Given the description of an element on the screen output the (x, y) to click on. 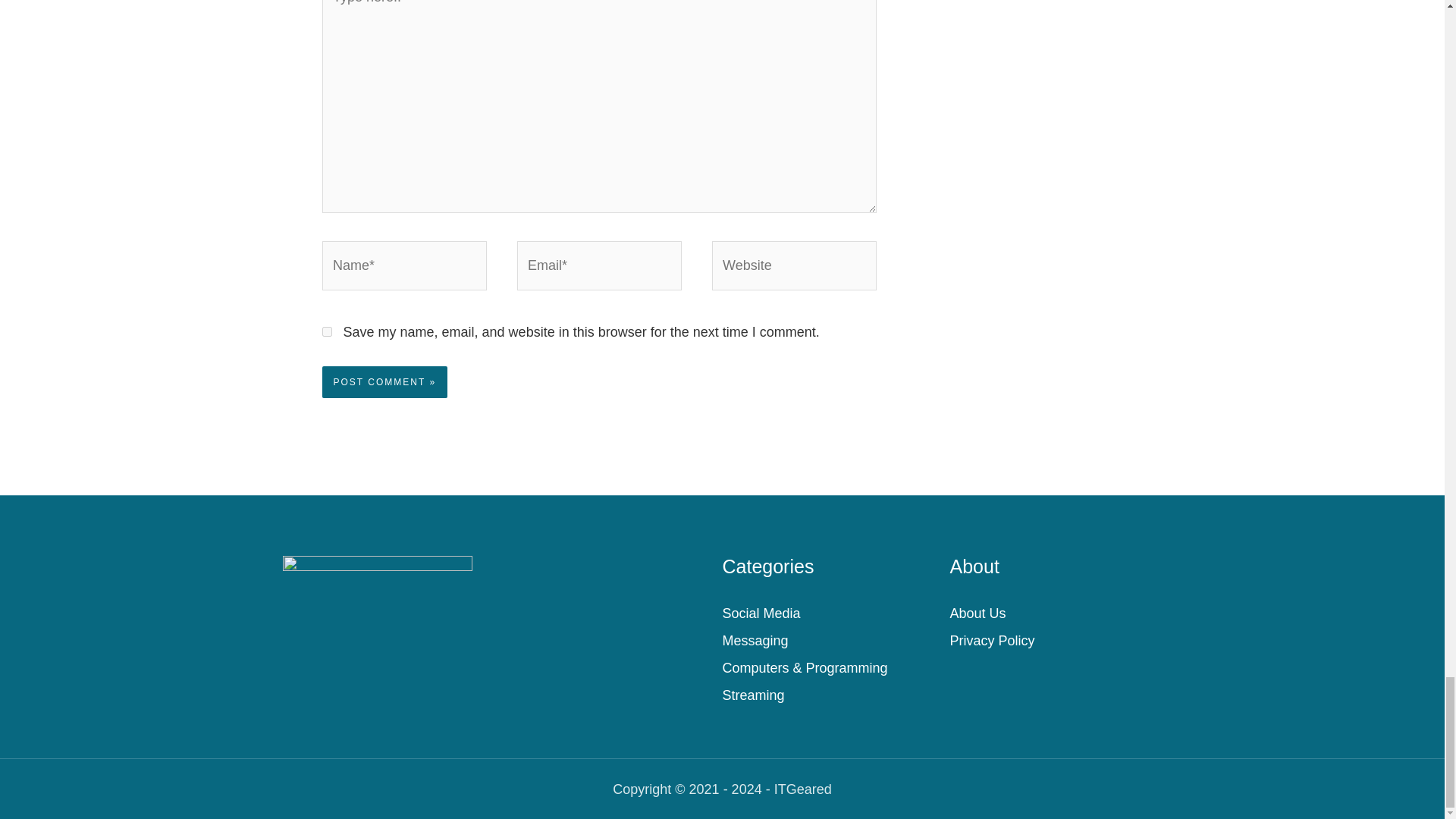
yes (326, 331)
